Given the description of an element on the screen output the (x, y) to click on. 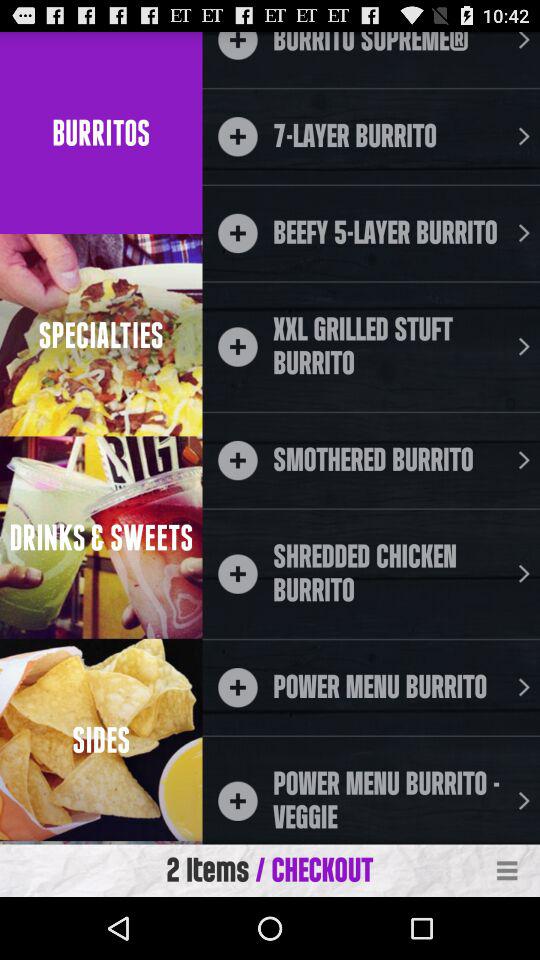
click on more options icon (507, 870)
click on  icon which is beside power menu burrito (238, 687)
click the add button beside the shredded chicken burrito text (238, 573)
click the add button beside the 7 layer burrito text (238, 136)
click on  symbol on the left side of burrito supreme (238, 44)
click on the button which is next to the xxl grilled stuft burrito (523, 346)
